Given the description of an element on the screen output the (x, y) to click on. 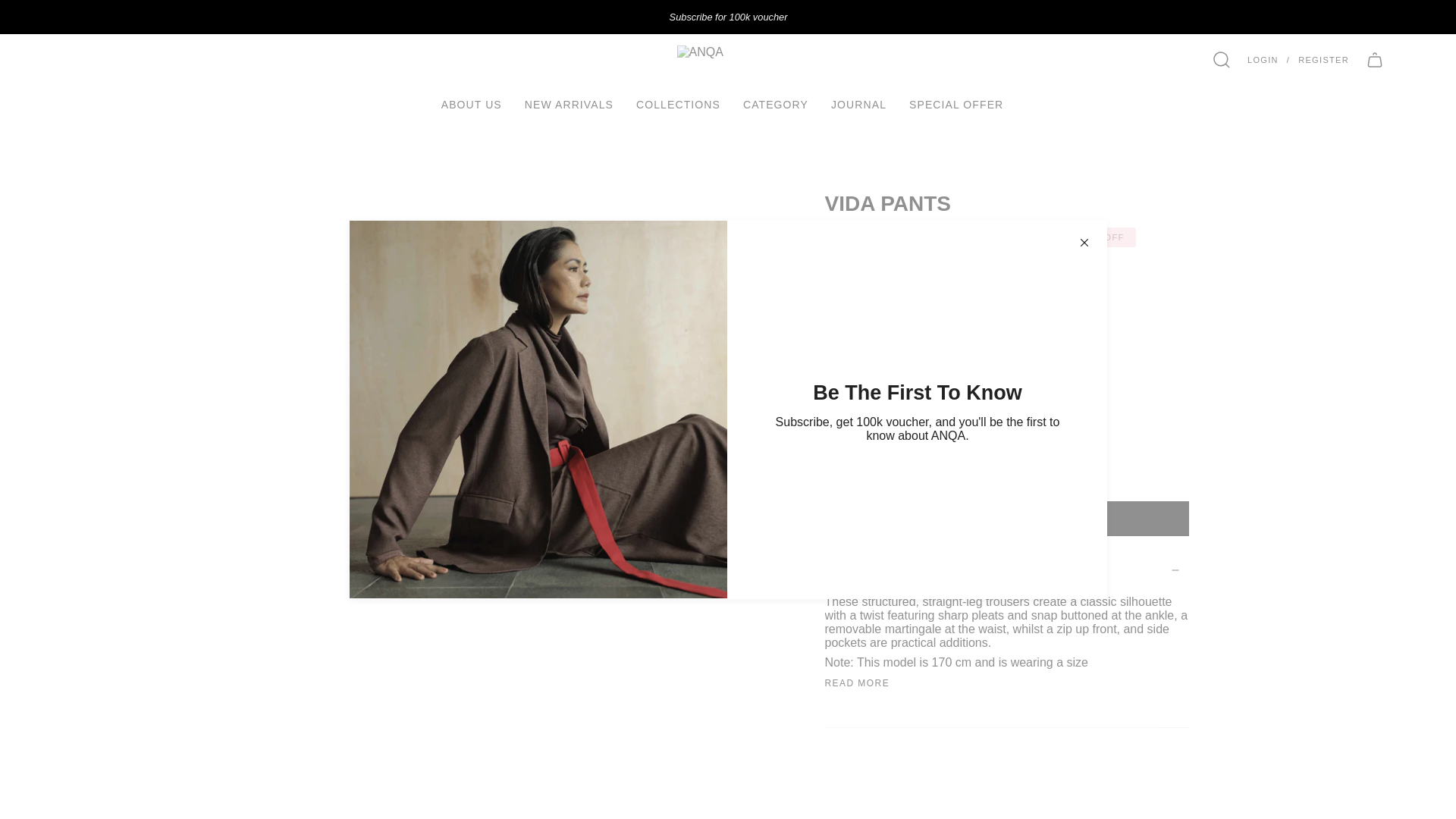
ABOUT US (471, 104)
JOURNAL (858, 104)
COLLECTIONS (678, 104)
REGISTER (1323, 59)
LOGIN (1263, 59)
SPECIAL OFFER (956, 104)
Close (1084, 242)
CATEGORY (775, 104)
NEW ARRIVALS (568, 104)
